Given the description of an element on the screen output the (x, y) to click on. 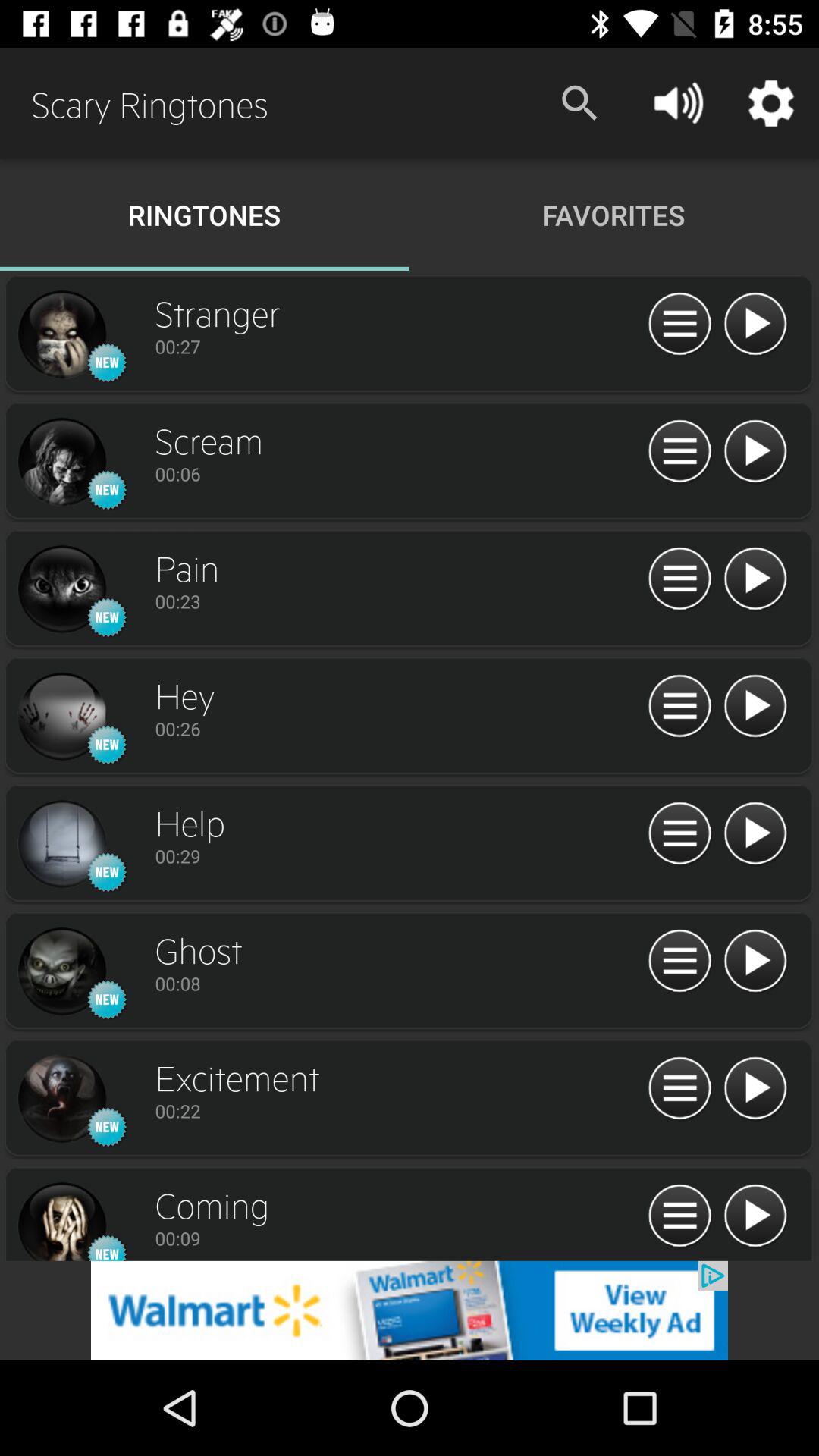
open details of subject (679, 451)
